Given the description of an element on the screen output the (x, y) to click on. 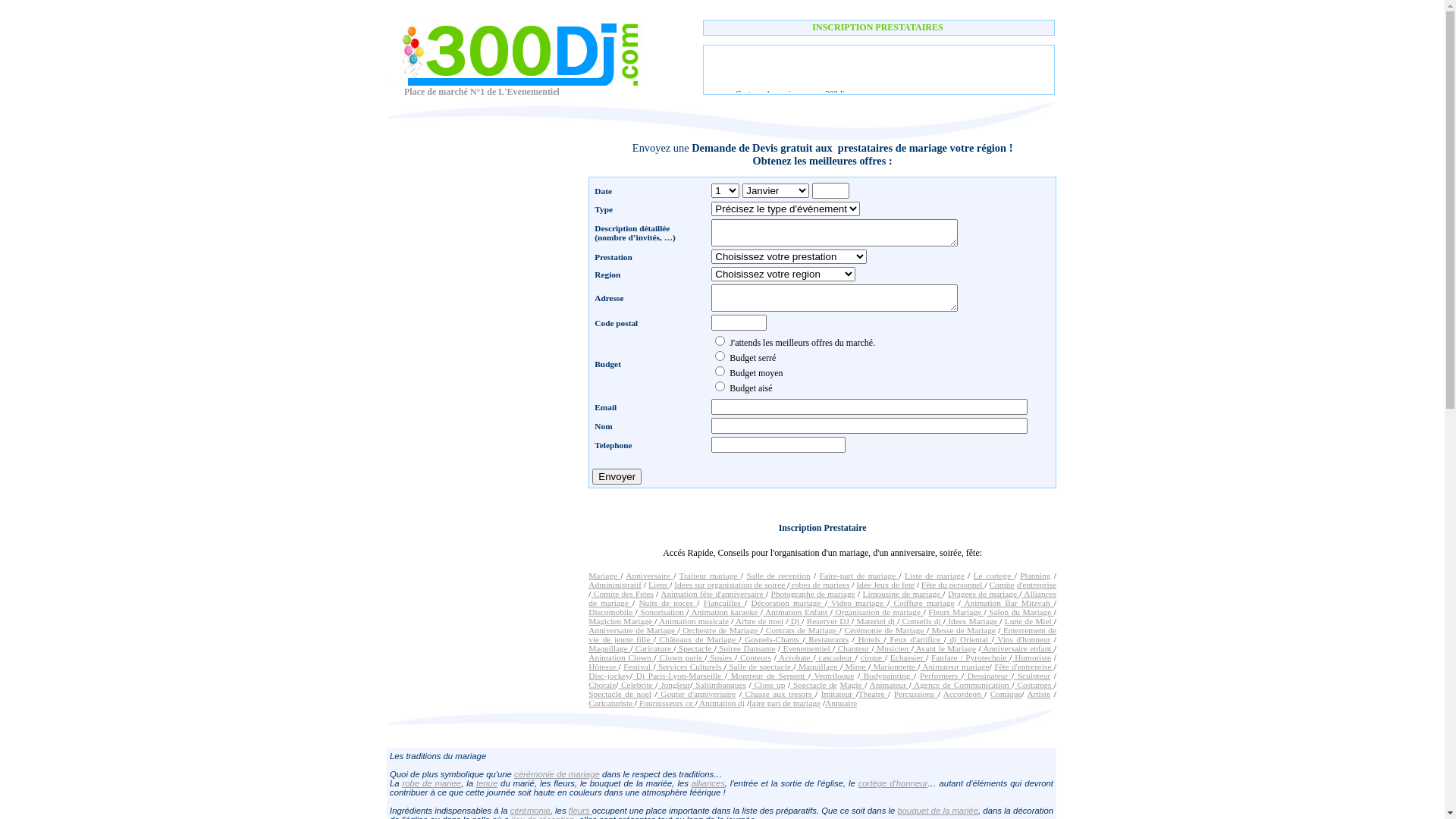
Animation musicale Element type: text (692, 620)
INSCRIPTION PRESTATAIRES  Element type: text (878, 26)
Dessinateur Element type: text (987, 675)
Planning Element type: text (1034, 575)
Percussions Element type: text (916, 693)
Chanteur Element type: text (852, 647)
Magie Element type: text (852, 684)
Faire-part de mariage Element type: text (859, 575)
Saltimbanques Element type: text (718, 684)
faire part de mariage Element type: text (784, 702)
Celebrite Element type: text (636, 684)
Artiste Element type: text (1038, 693)
Performers Element type: text (940, 675)
Pyrotechnie Element type: text (986, 657)
Animateur mariage Element type: text (953, 666)
Conseils dj Element type: text (921, 620)
Nuits de noces Element type: text (667, 602)
Video mariage Element type: text (857, 602)
Arbre de noel Element type: text (758, 620)
fleurs Element type: text (580, 810)
robe de mariee Element type: text (431, 782)
Comique Element type: text (1006, 693)
de mariage Element type: text (576, 773)
Salon du Mariage Element type: text (1020, 611)
Traiteur mariage Element type: text (709, 575)
Enterrement de vie de jeune fille Element type: text (822, 634)
Imitateur Element type: text (838, 693)
Animation Enfant Element type: text (796, 611)
Maquillage Element type: text (609, 647)
Ventriloque Element type: text (831, 675)
Acrobate Element type: text (794, 657)
Mime Element type: text (855, 666)
Liste de mariage Element type: text (934, 575)
Sonorisation Element type: text (661, 611)
Lune de Miel Element type: text (1029, 620)
Echassier Element type: text (907, 657)
alliances Element type: text (707, 782)
Coiffure mariage Element type: text (921, 602)
Gospels-Chants Element type: text (772, 638)
tenue Element type: text (486, 782)
Soiree Dansante Element type: text (745, 647)
Chorale Element type: text (601, 684)
Anniversaire Element type: text (649, 575)
Envoyer Element type: text (616, 476)
Caricaturiste Element type: text (611, 702)
Jongleur Element type: text (673, 684)
Dragees de mariage Element type: text (983, 593)
Avant le Mariage Element type: text (944, 647)
Orchestre de Mariage Element type: text (720, 629)
Evenementiel Element type: text (806, 647)
Alliances de mariage Element type: text (822, 598)
Restaurants Element type: text (826, 638)
Discomobile Element type: text (611, 611)
Animation dj Element type: text (720, 702)
Bodypainting Element type: text (886, 675)
Animation Clown Element type: text (620, 657)
Sculpteur Element type: text (1031, 675)
Anniversaire de Mariage Element type: text (632, 629)
cirque Element type: text (872, 657)
Messe de Mariage Element type: text (961, 629)
Humoriste Element type: text (1031, 657)
Spectacle de Element type: text (813, 684)
Animation karaoke Element type: text (723, 611)
dj Oriental Element type: text (968, 638)
Comite des Fetes Element type: text (621, 593)
Theatre Element type: text (873, 693)
d'entreprise Element type: text (1036, 584)
Marionnette Element type: text (893, 666)
Costumes Element type: text (1034, 684)
Salle de spectacle Element type: text (759, 666)
Idees Mariage Element type: text (972, 620)
Conteurs Element type: text (754, 657)
Agence de Communication Element type: text (961, 684)
Animation Bar Mitzvah Element type: text (1007, 602)
Materiel dj Element type: text (875, 620)
Musicien Element type: text (892, 647)
Limousine de mariage Element type: text (902, 593)
Disc-jockey Element type: text (609, 675)
Maquillage Element type: text (818, 666)
Animateur Element type: text (889, 684)
Fournisseurs ce Element type: text (665, 702)
Anniversaire enfant Element type: text (1017, 647)
Idee Jeux de fete Element type: text (885, 584)
Fleurs Mariage Element type: text (955, 611)
Services Culturels Element type: text (689, 666)
Organisation de mariage Element type: text (877, 611)
Idees sur organistation de soiree Element type: text (730, 584)
Festival Element type: text (637, 666)
Comite Element type: text (1000, 584)
Montreur de Serpent Element type: text (767, 675)
Gouter d'anniversaire Element type: text (696, 693)
Dj Element type: text (795, 620)
Spectacle de noel Element type: text (619, 693)
Liens Element type: text (658, 584)
Fanfare / Element type: text (947, 657)
Hotels Element type: text (869, 638)
Accordeon Element type: text (963, 693)
Sosies Element type: text (721, 657)
Close up Element type: text (768, 684)
Vins d'honneur Element type: text (1022, 638)
Salle de reception Element type: text (777, 575)
Caricature Element type: text (652, 647)
Spectacle Element type: text (694, 647)
Contrats de Mariage Element type: text (800, 629)
Mariage Element type: text (604, 575)
cascadeur Element type: text (835, 657)
Photographe de mariage Element type: text (812, 593)
Reserver DJ Element type: text (828, 620)
Annuaire Element type: text (840, 702)
Admininistratif Element type: text (614, 584)
Dj Paris-Lyon-Marseille Element type: text (678, 675)
Chasse aux tresors Element type: text (778, 693)
Magicien Mariage Element type: text (621, 620)
Feux d'artifice Element type: text (915, 638)
Inscription Prestataire Element type: text (822, 544)
robes de mariees Element type: text (819, 584)
Clown paris Element type: text (680, 657)
Le cortege Element type: text (993, 575)
